Given the description of an element on the screen output the (x, y) to click on. 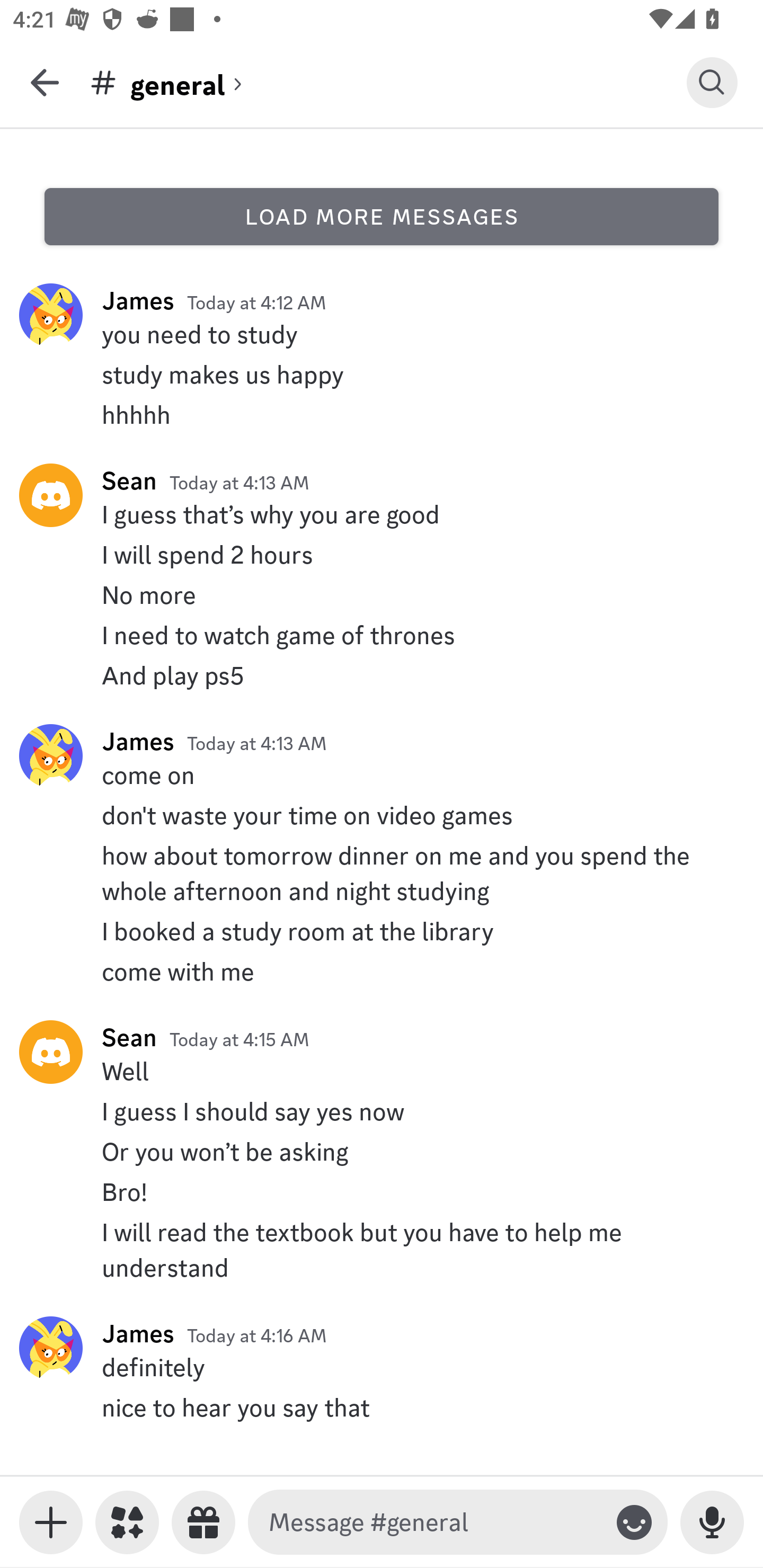
general (channel) general general (channel) (387, 82)
Back (44, 82)
Search (711, 82)
LOAD MORE MESSAGES (381, 216)
James (137, 299)
ssseannn007., hhhhh hhhhh (381, 414)
Sean (129, 480)
yuxiang.007, No more No more (381, 594)
yuxiang.007, And play ps5 And play ps5 (381, 675)
James (137, 740)
ssseannn007., come with me come with me (381, 970)
Sean (129, 1036)
yuxiang.007, Bro! Bro! (381, 1191)
James (137, 1333)
Toggle media keyboard (50, 1522)
Apps (126, 1522)
Send a gift (203, 1522)
Record Voice Message (711, 1522)
Message #general (433, 1522)
Toggle emoji keyboard (634, 1522)
